Given the description of an element on the screen output the (x, y) to click on. 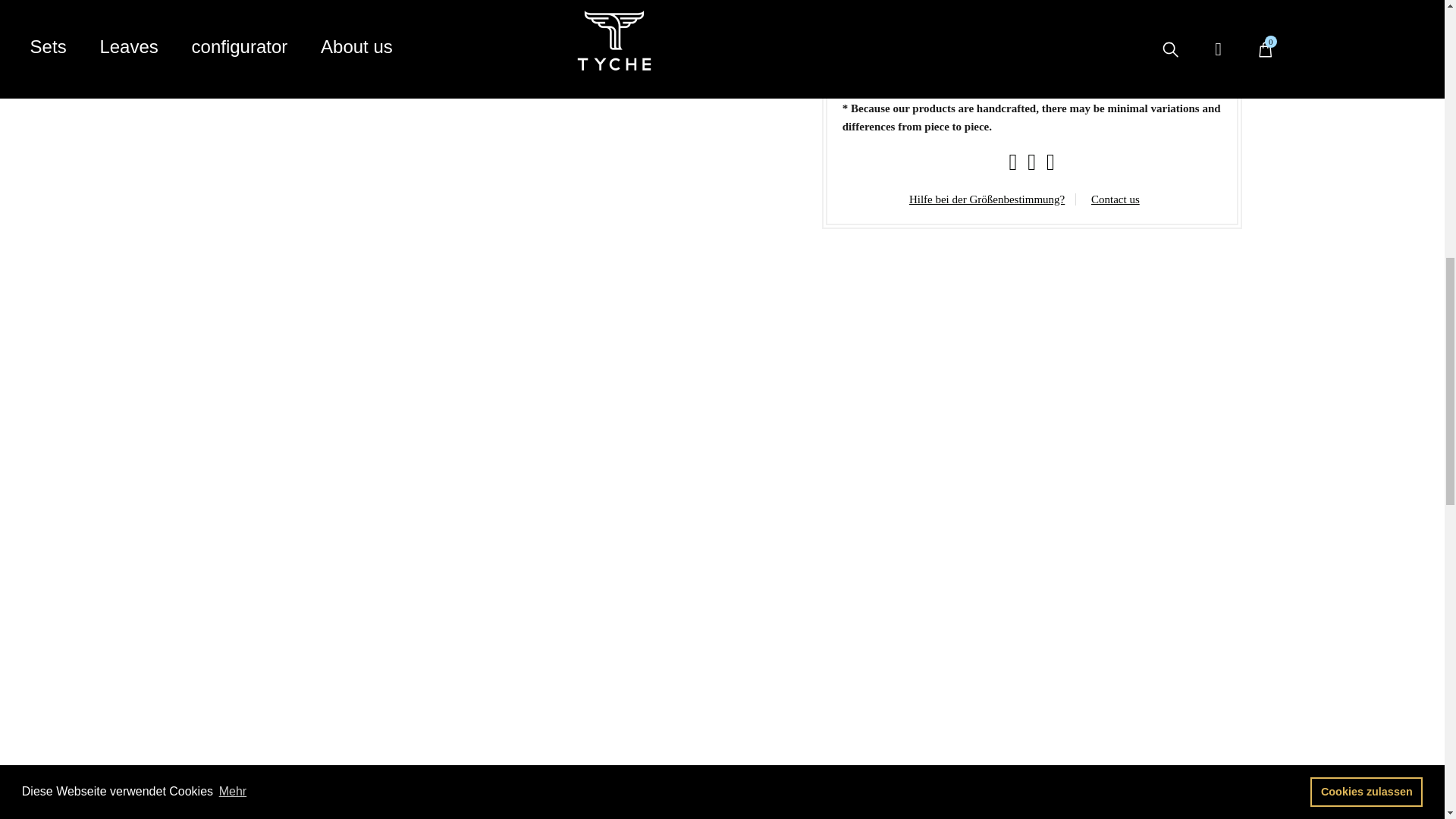
Contact us (1115, 199)
